Given the description of an element on the screen output the (x, y) to click on. 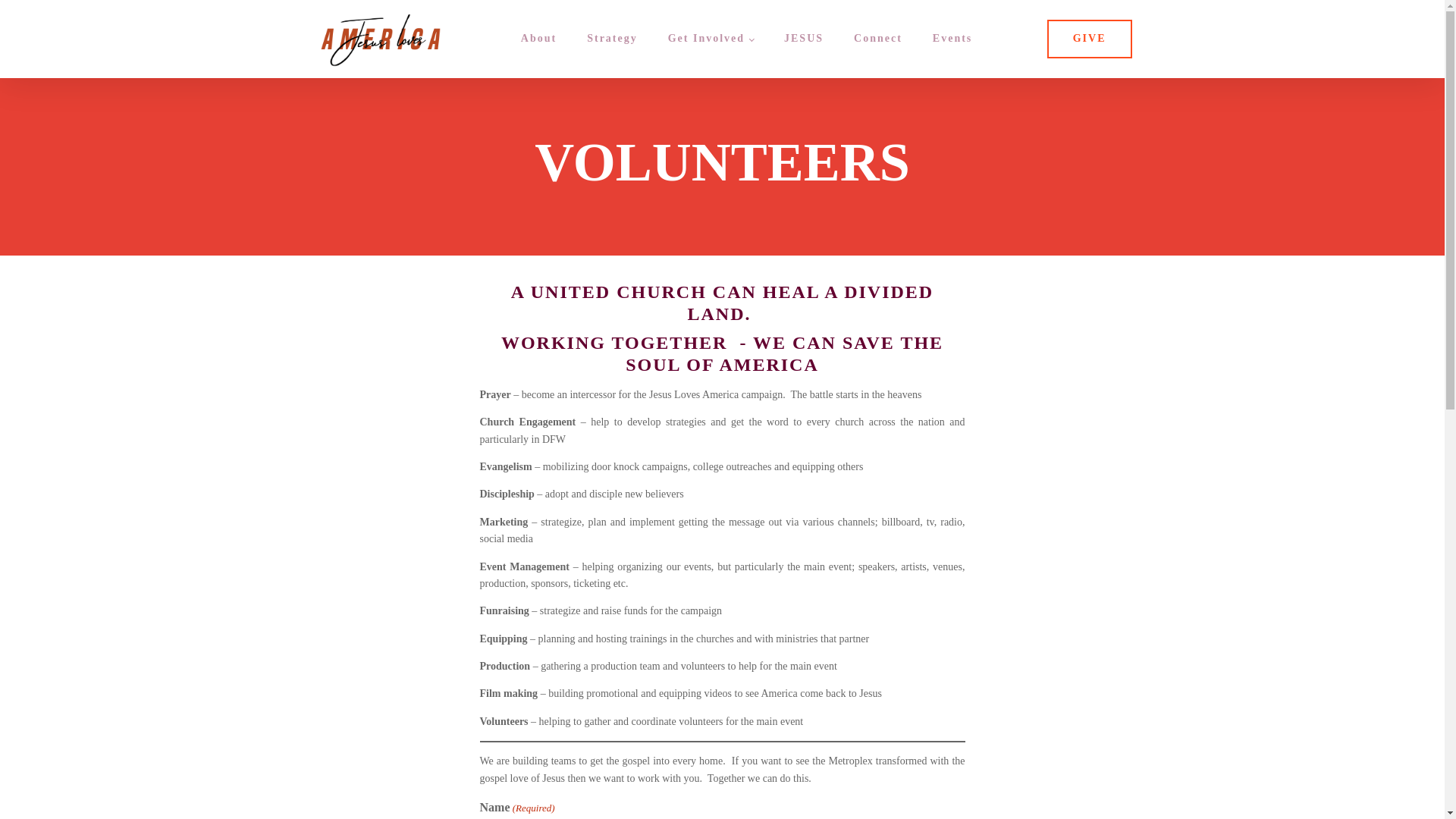
Strategy (612, 38)
Connect (877, 38)
JESUS (803, 38)
About (538, 38)
Get Involved (710, 38)
GIVE (1089, 38)
Events (952, 38)
